Given the description of an element on the screen output the (x, y) to click on. 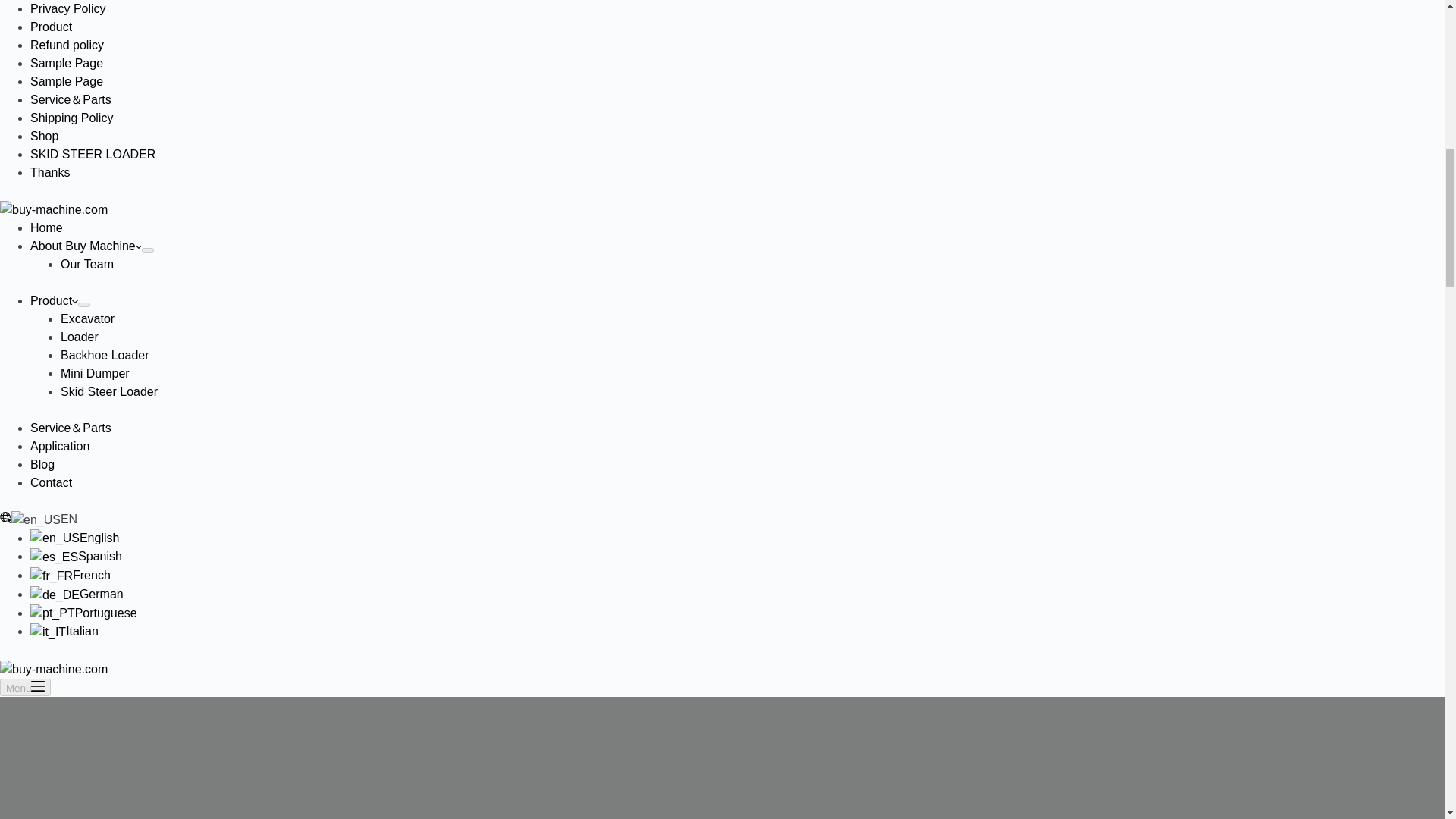
German (55, 595)
Portuguese (52, 613)
English (36, 520)
English (55, 538)
Spanish (54, 556)
Italian (47, 632)
French (51, 576)
